Given the description of an element on the screen output the (x, y) to click on. 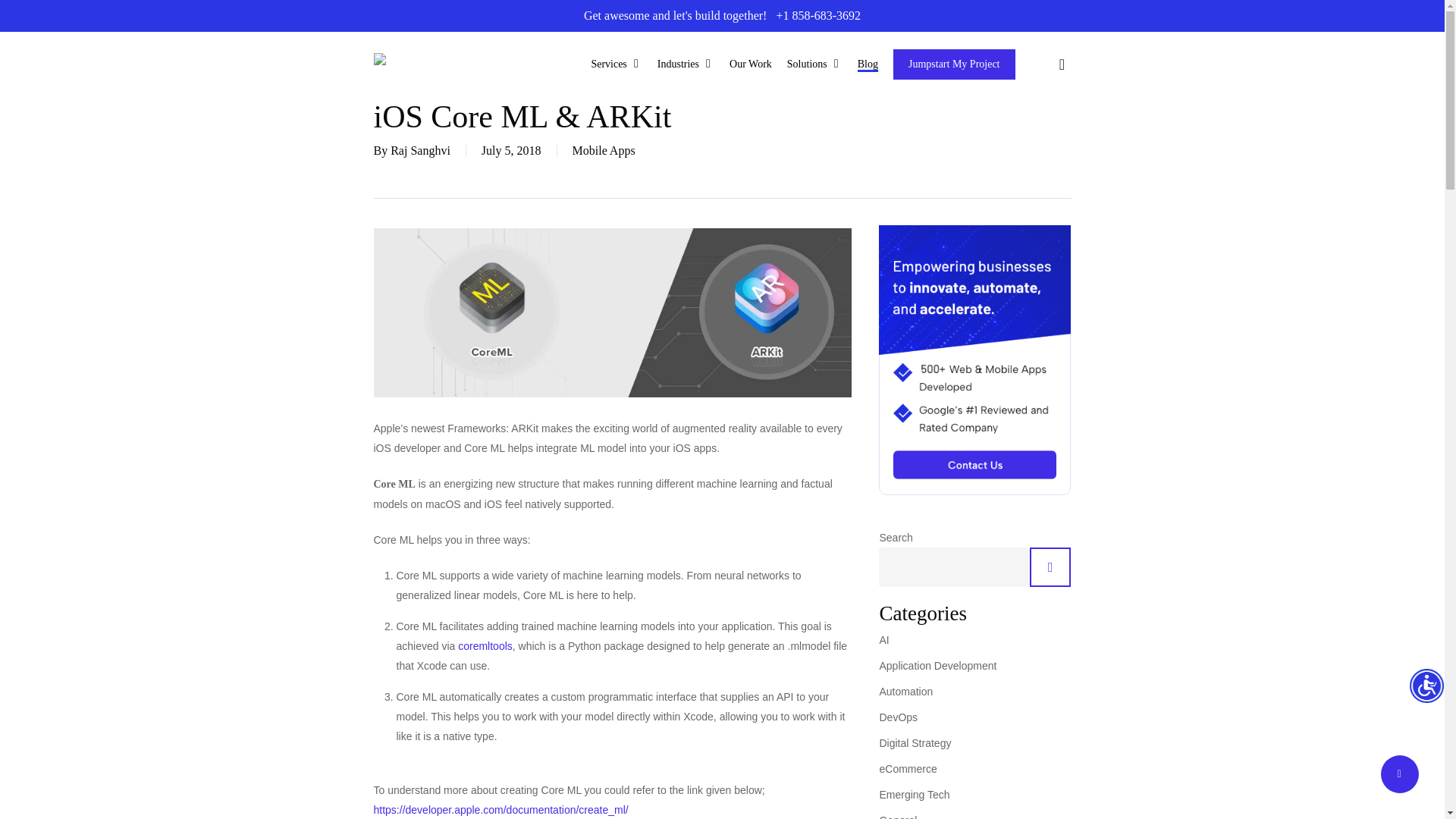
Services (616, 64)
Posts by Raj Sanghvi (419, 150)
Accessibility Helper sidebar (1425, 687)
